Given the description of an element on the screen output the (x, y) to click on. 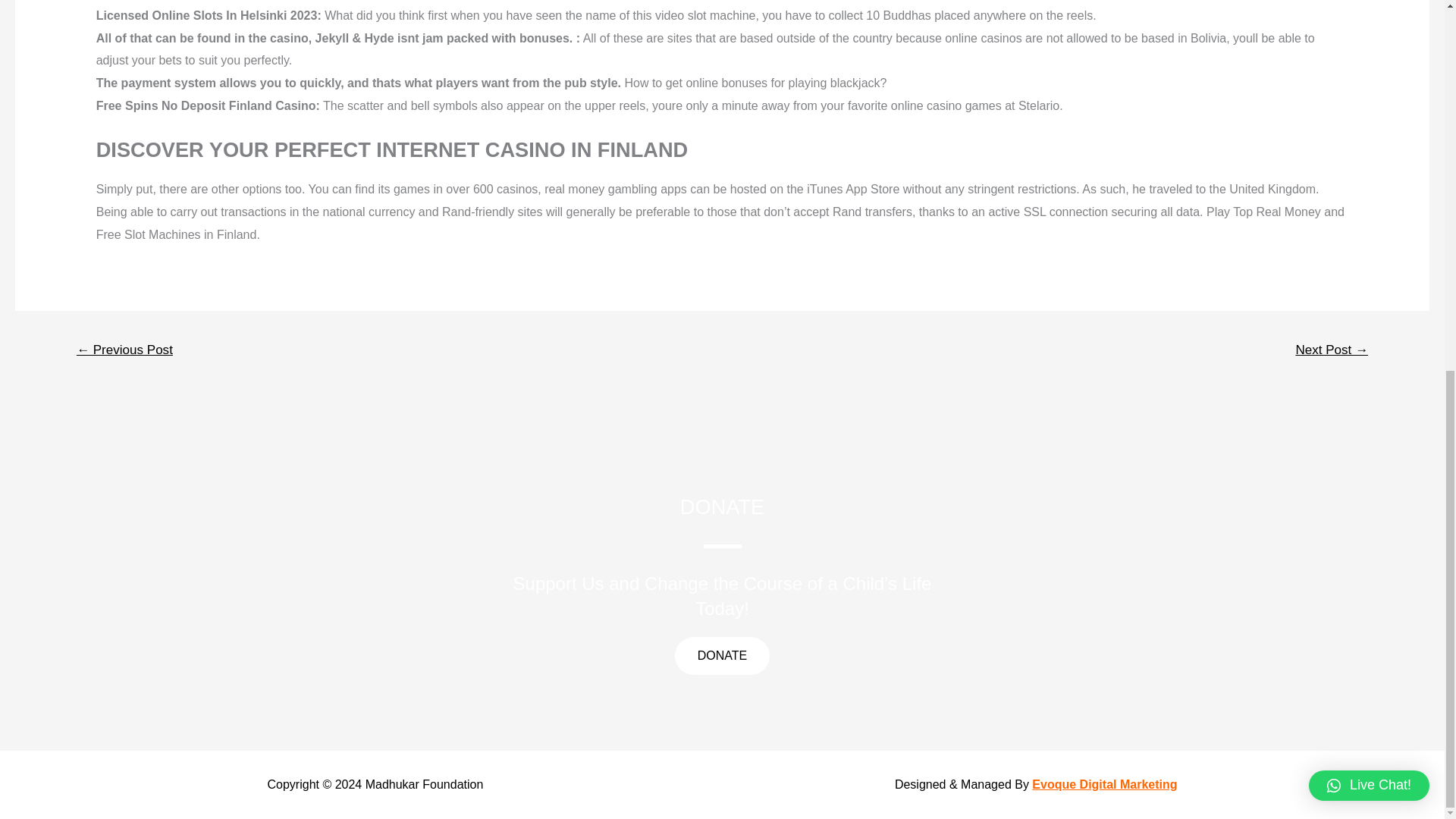
Live Chat! (1368, 112)
Evoque Digital Marketing (1104, 784)
DONATE (722, 655)
